Given the description of an element on the screen output the (x, y) to click on. 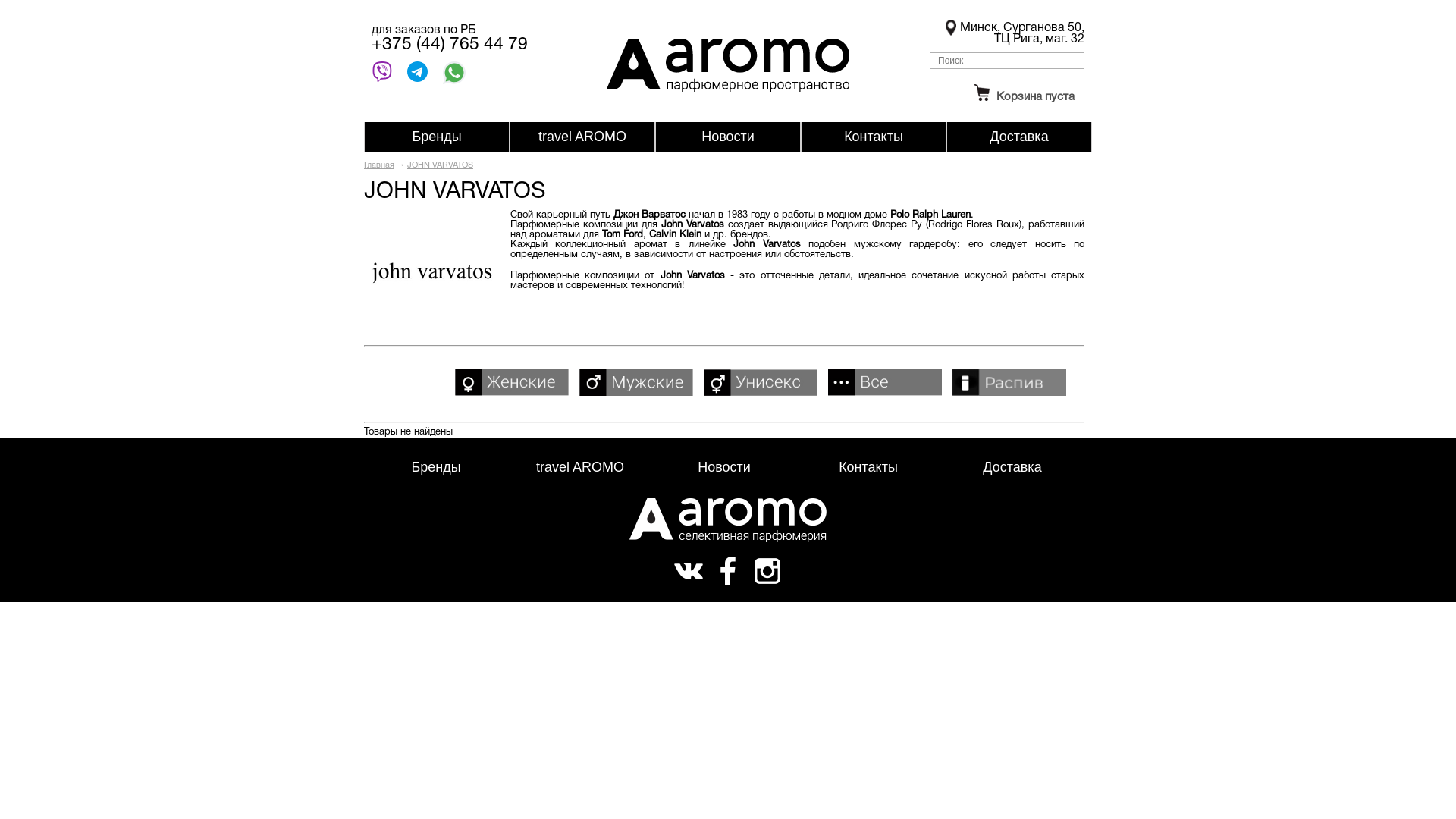
travel AROMO Element type: text (580, 467)
travel AROMO Element type: text (582, 136)
JOHN VARVATOS Element type: text (440, 165)
+375 (44) 765 44 79 Element type: text (449, 45)
